Given the description of an element on the screen output the (x, y) to click on. 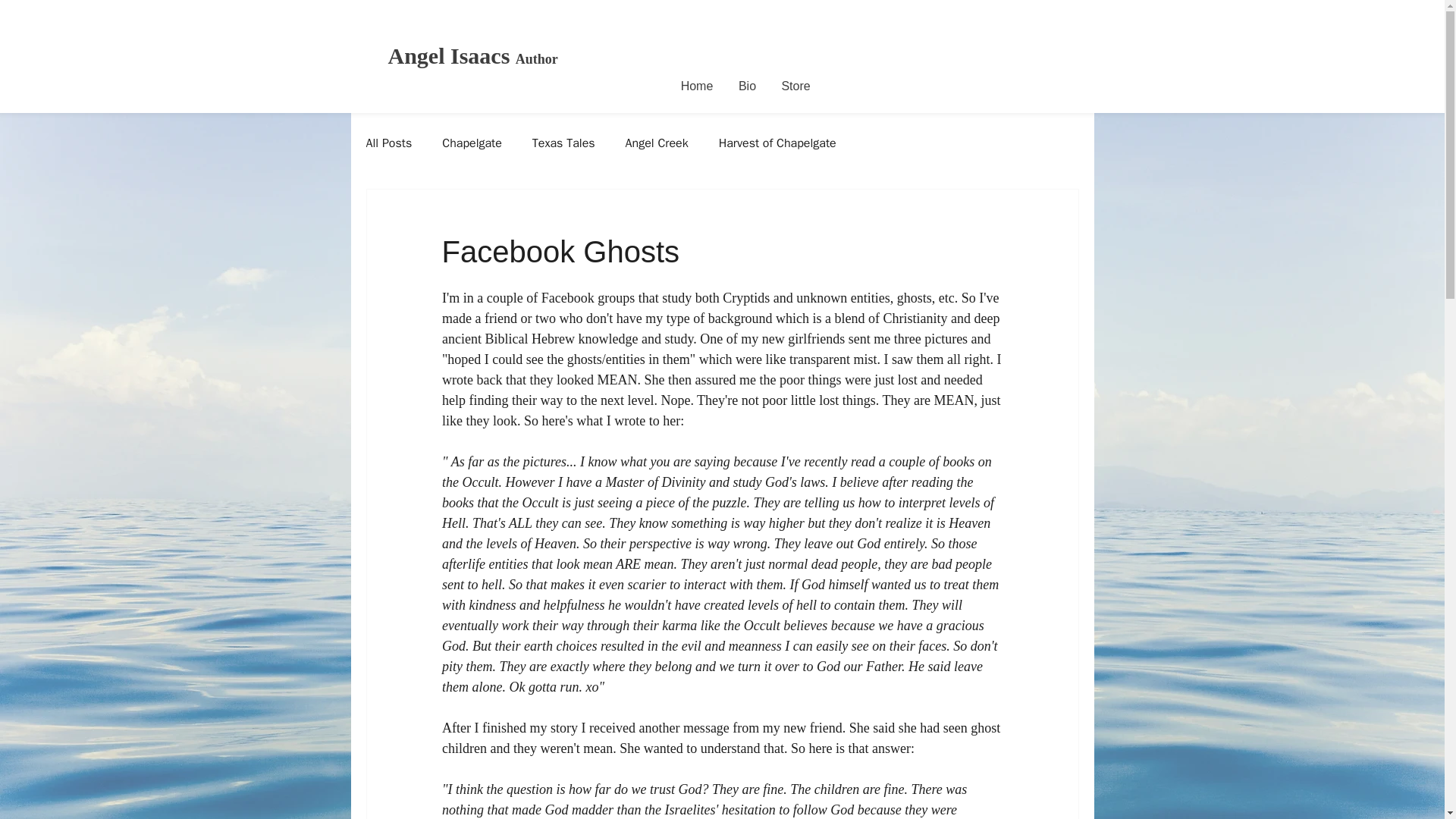
Texas Tales (563, 142)
Home (695, 85)
Angel Isaacs  (451, 55)
Angel Creek (657, 142)
Bio (747, 85)
All Posts (388, 142)
Harvest of Chapelgate (777, 142)
Store (796, 85)
Chapelgate (472, 142)
